Given the description of an element on the screen output the (x, y) to click on. 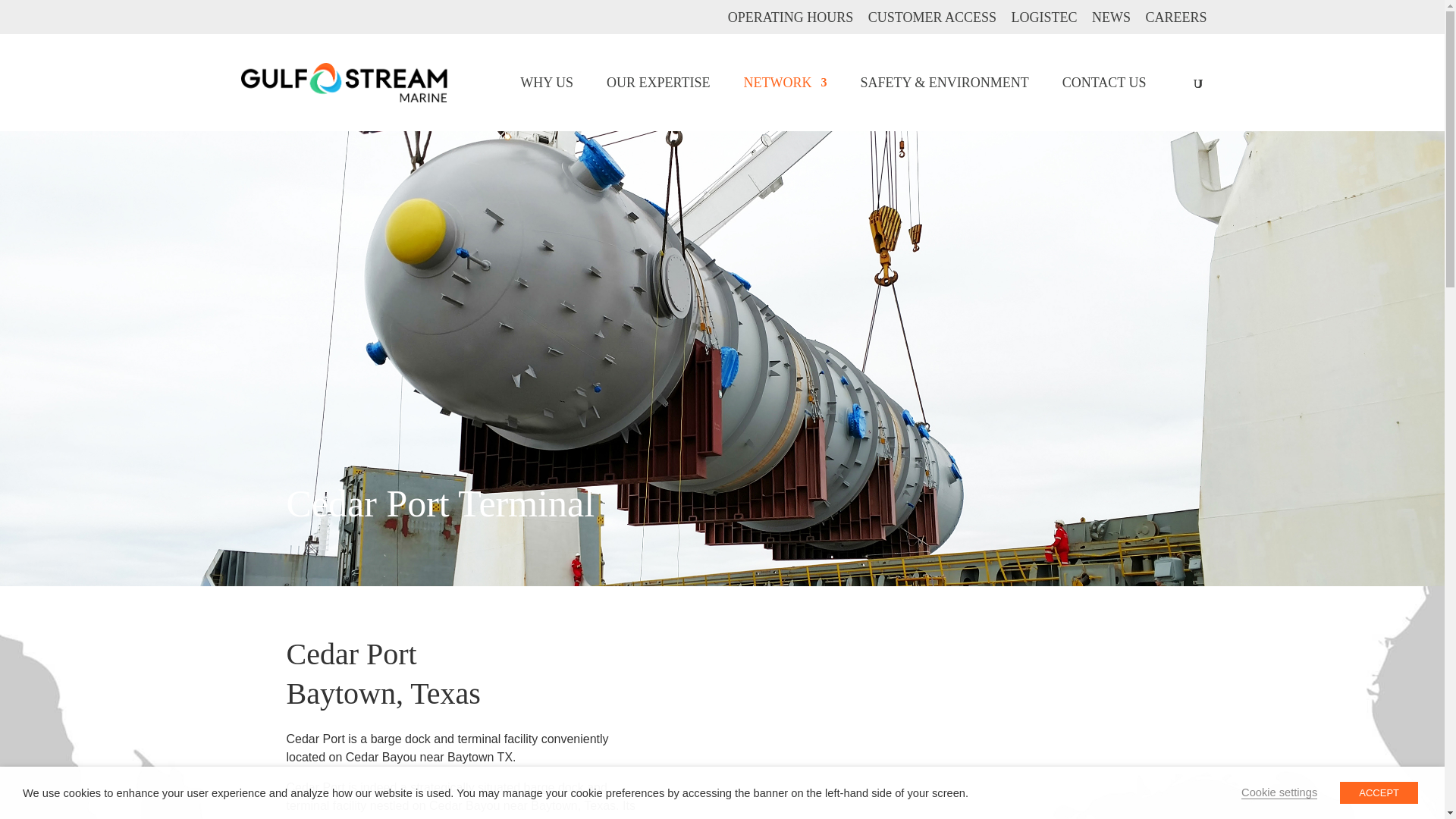
NETWORK (784, 103)
CONTACT US (1104, 103)
WHY US (546, 103)
CAREERS (1175, 22)
OPERATING HOURS (790, 22)
NEWS (1111, 22)
CUSTOMER ACCESS (931, 22)
LOGISTEC (1043, 22)
OUR EXPERTISE (658, 103)
